Given the description of an element on the screen output the (x, y) to click on. 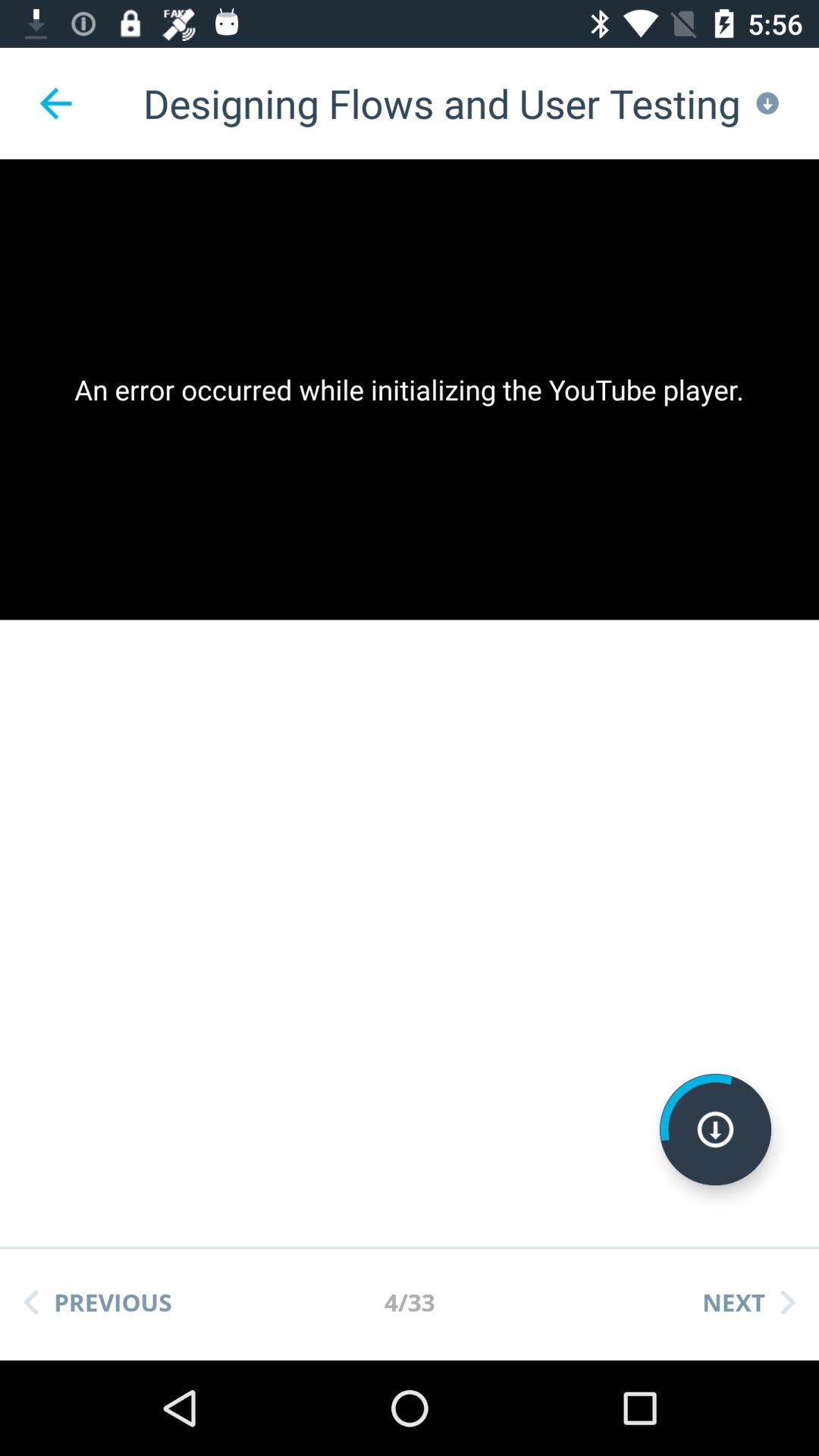
tap the icon above the next item (715, 1129)
